Given the description of an element on the screen output the (x, y) to click on. 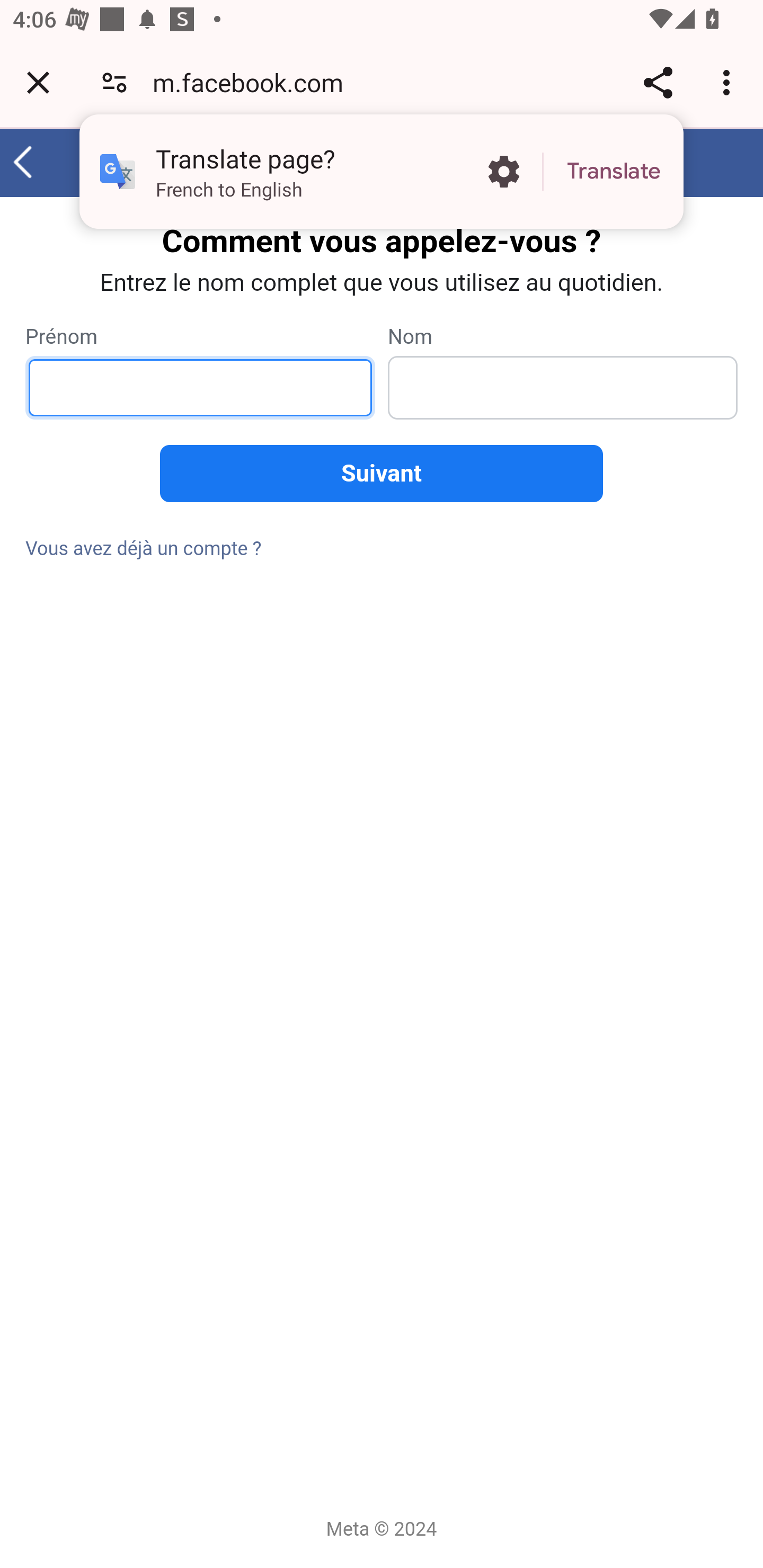
Close tab (38, 82)
Share (657, 82)
Customize and control Google Chrome (729, 82)
Connection is secure (114, 81)
m.facebook.com (254, 81)
Translate (613, 171)
More options in the Translate page? (503, 171)
Suivant (381, 473)
Vous avez déjà un compte ? (143, 549)
